Given the description of an element on the screen output the (x, y) to click on. 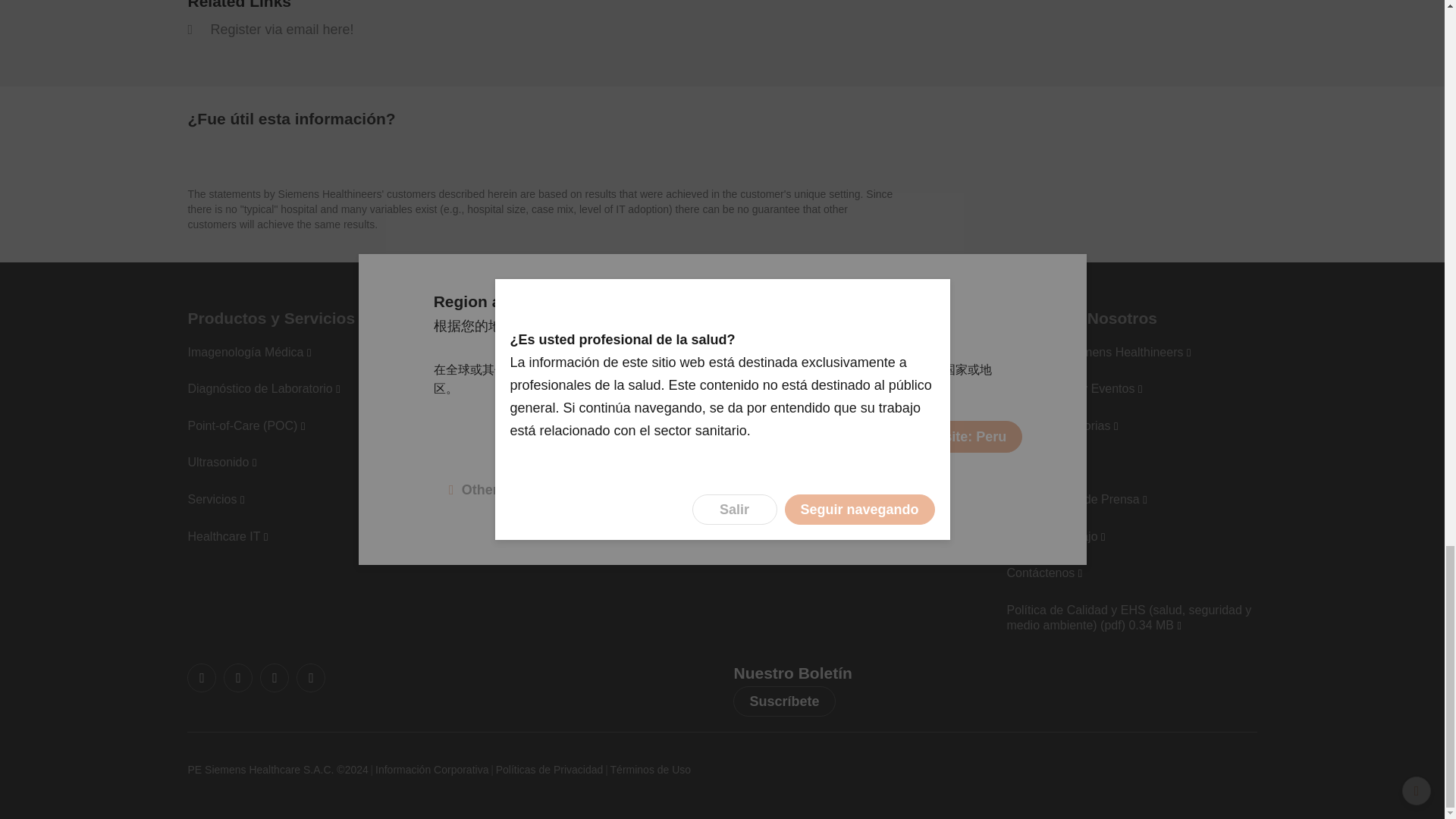
Register via email here! (270, 29)
